Given the description of an element on the screen output the (x, y) to click on. 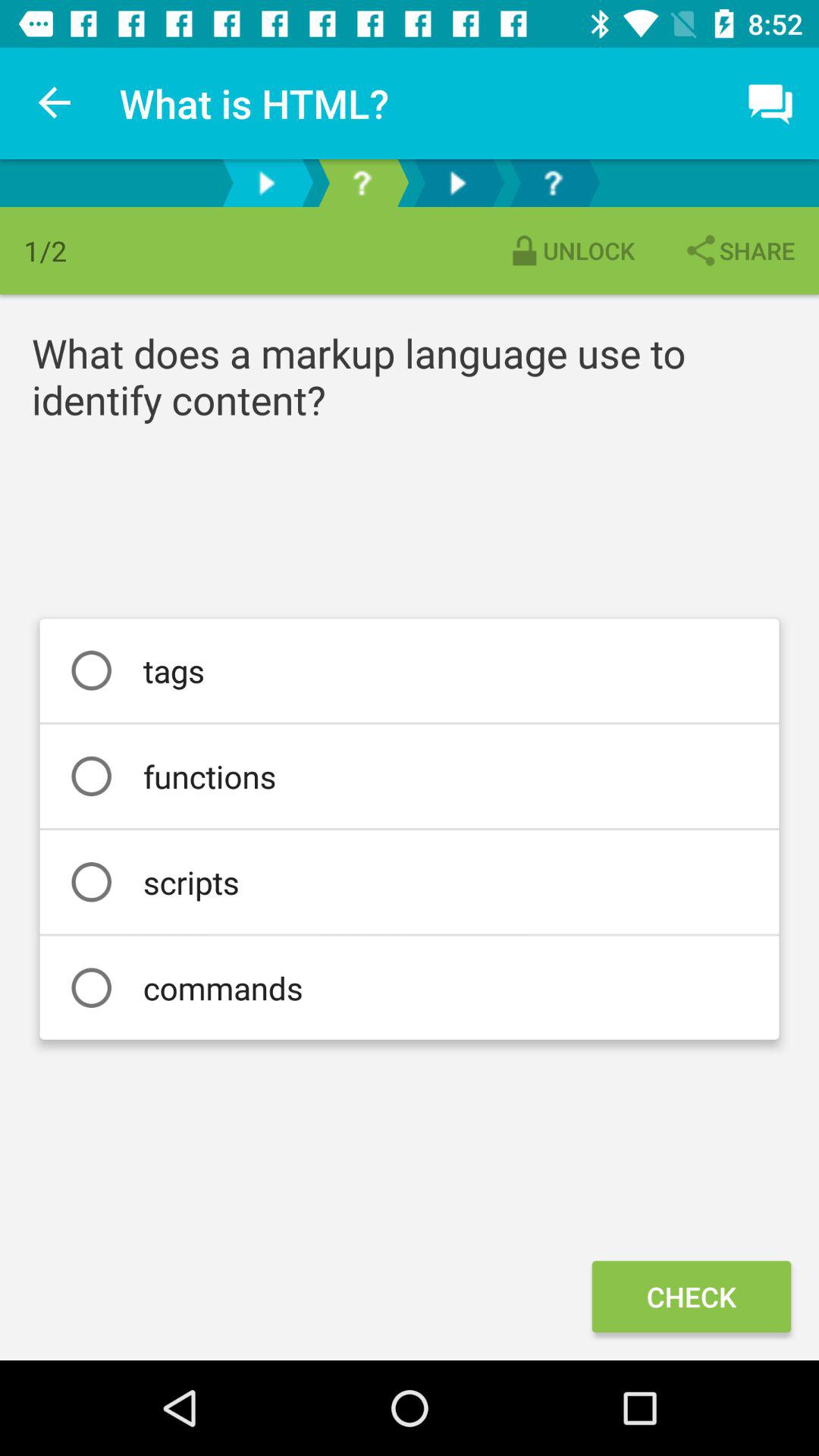
tap the item above share icon (771, 103)
